Given the description of an element on the screen output the (x, y) to click on. 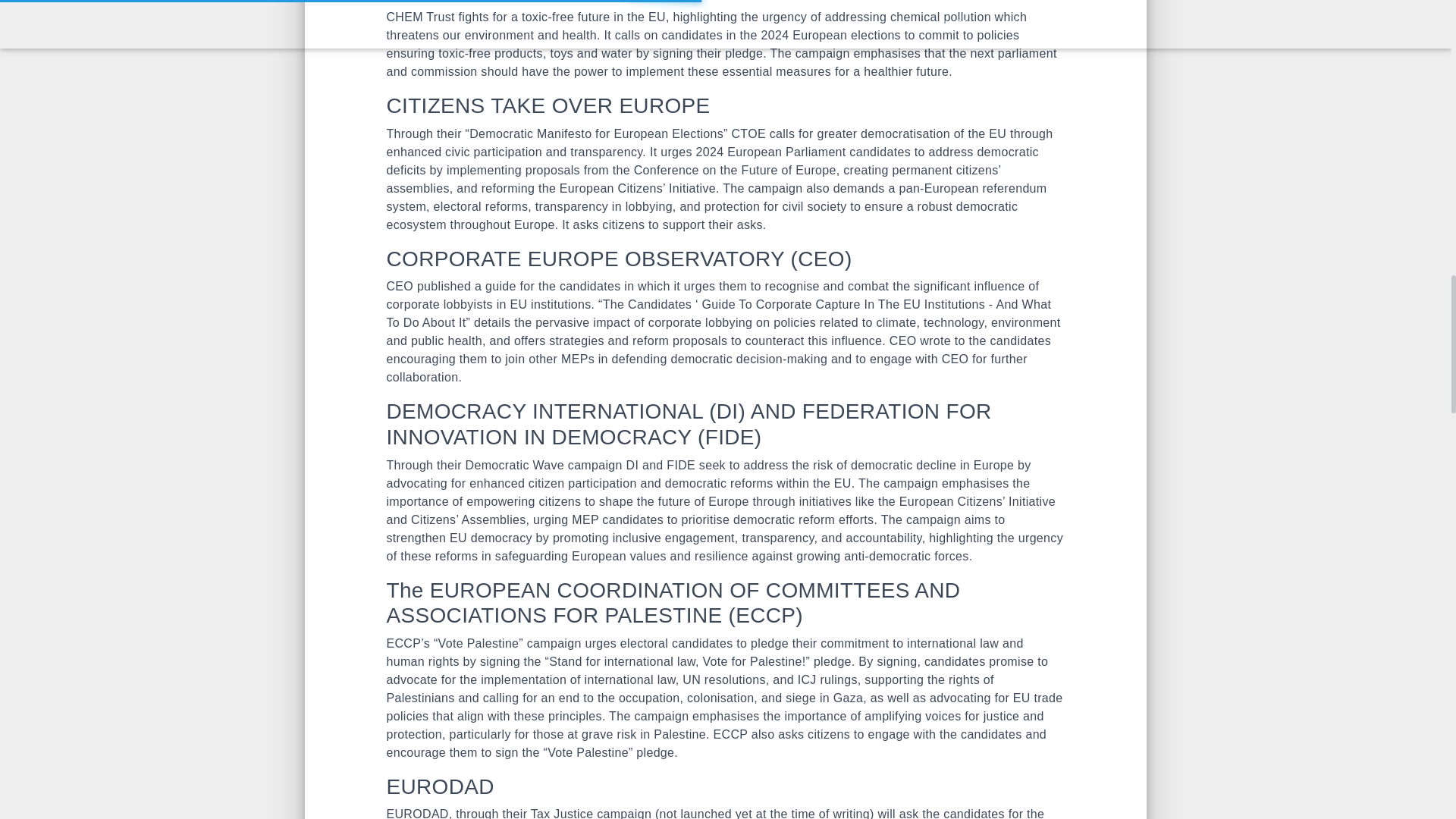
citizens (829, 734)
pledge (743, 52)
Democratic Wave (514, 464)
pledge (832, 661)
asks (749, 224)
wrote (935, 340)
